Given the description of an element on the screen output the (x, y) to click on. 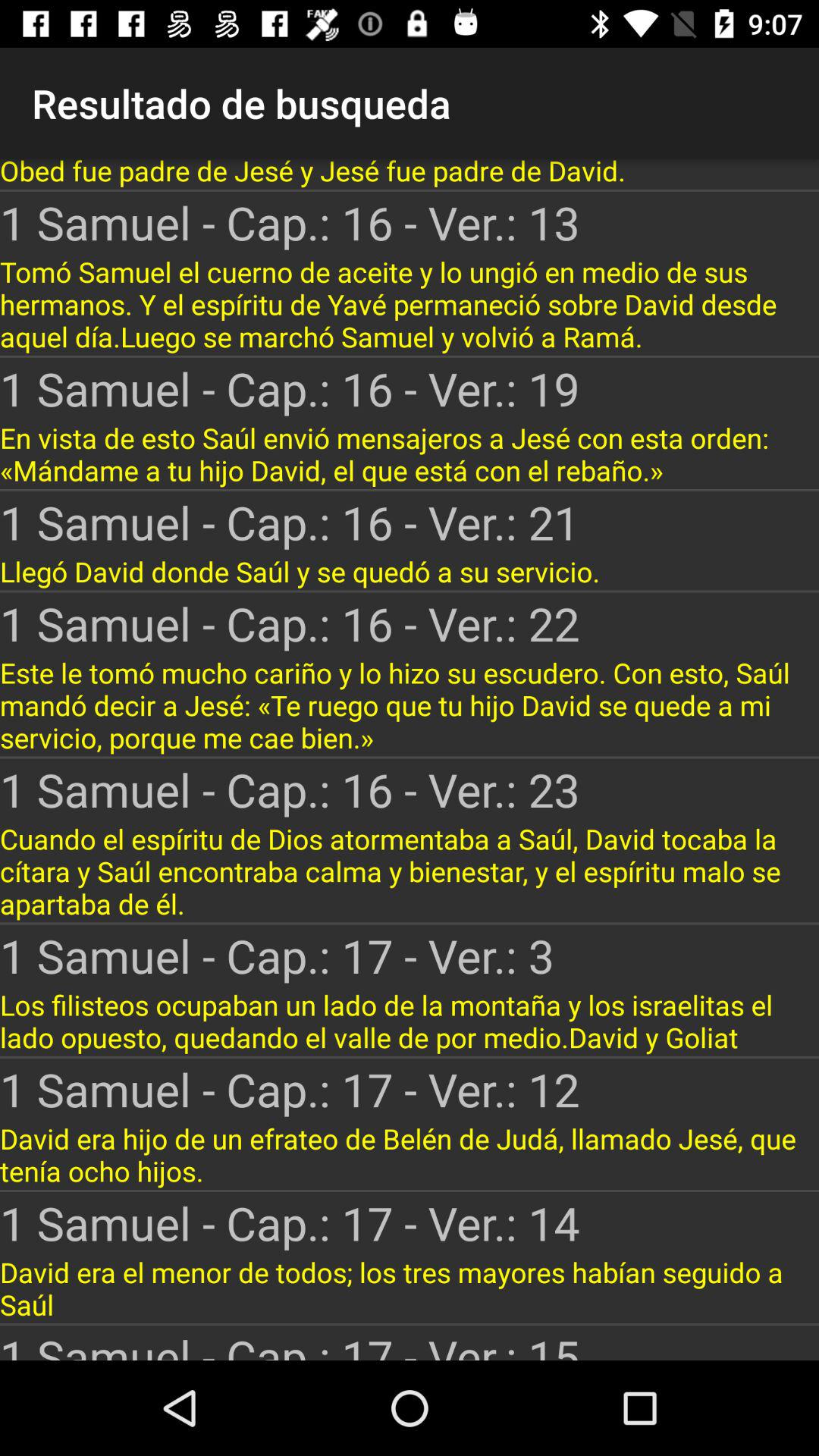
open icon below the 1 samuel cap item (409, 304)
